Given the description of an element on the screen output the (x, y) to click on. 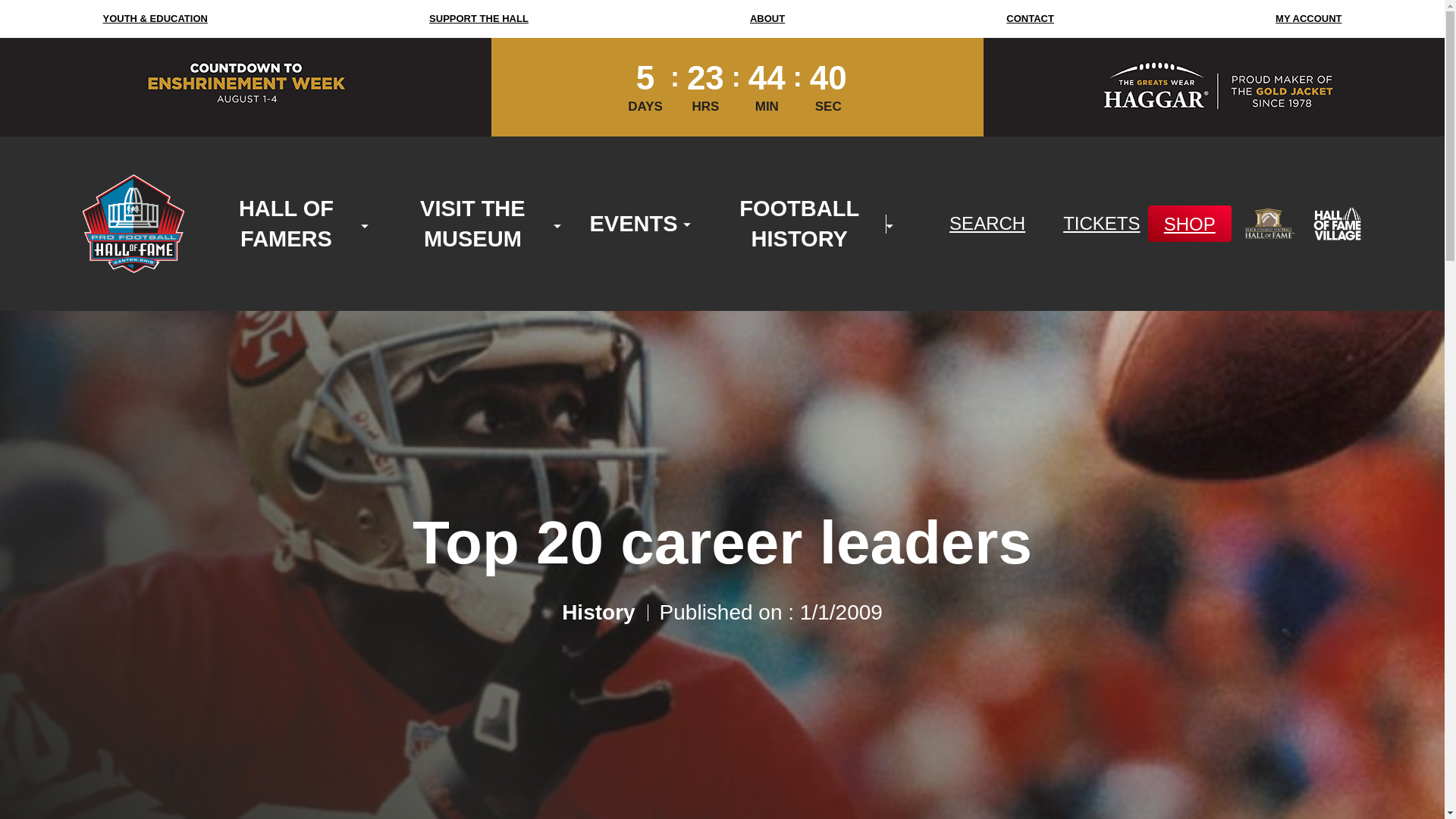
MY ACCOUNT (1307, 18)
Pro Football Hall of Fame (132, 223)
FOOTBALL HISTORY (798, 223)
SUPPORT THE HALL (478, 18)
CONTACT (1029, 18)
HALL OF FAMERS (286, 223)
VISIT THE MUSEUM (472, 223)
ABOUT (767, 18)
